Given the description of an element on the screen output the (x, y) to click on. 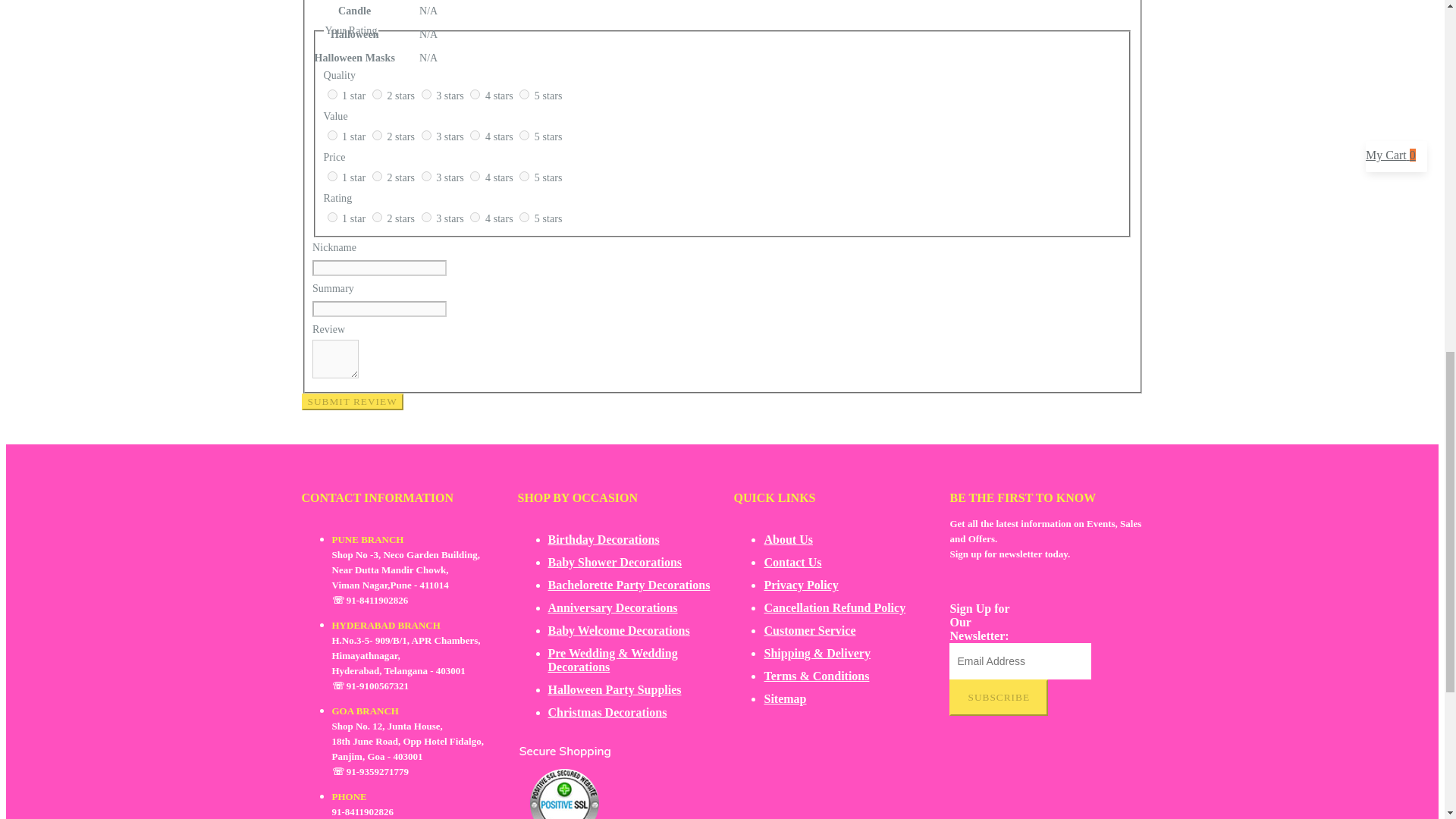
8 (426, 135)
16 (332, 216)
10 (524, 135)
6 (332, 135)
4 stars (499, 95)
13 (426, 175)
1 (332, 94)
1 star (355, 136)
3 (426, 94)
7 (376, 135)
My Cart 0 (1398, 154)
11 (332, 175)
14 (475, 175)
2 stars (401, 136)
2 stars (401, 95)
